Given the description of an element on the screen output the (x, y) to click on. 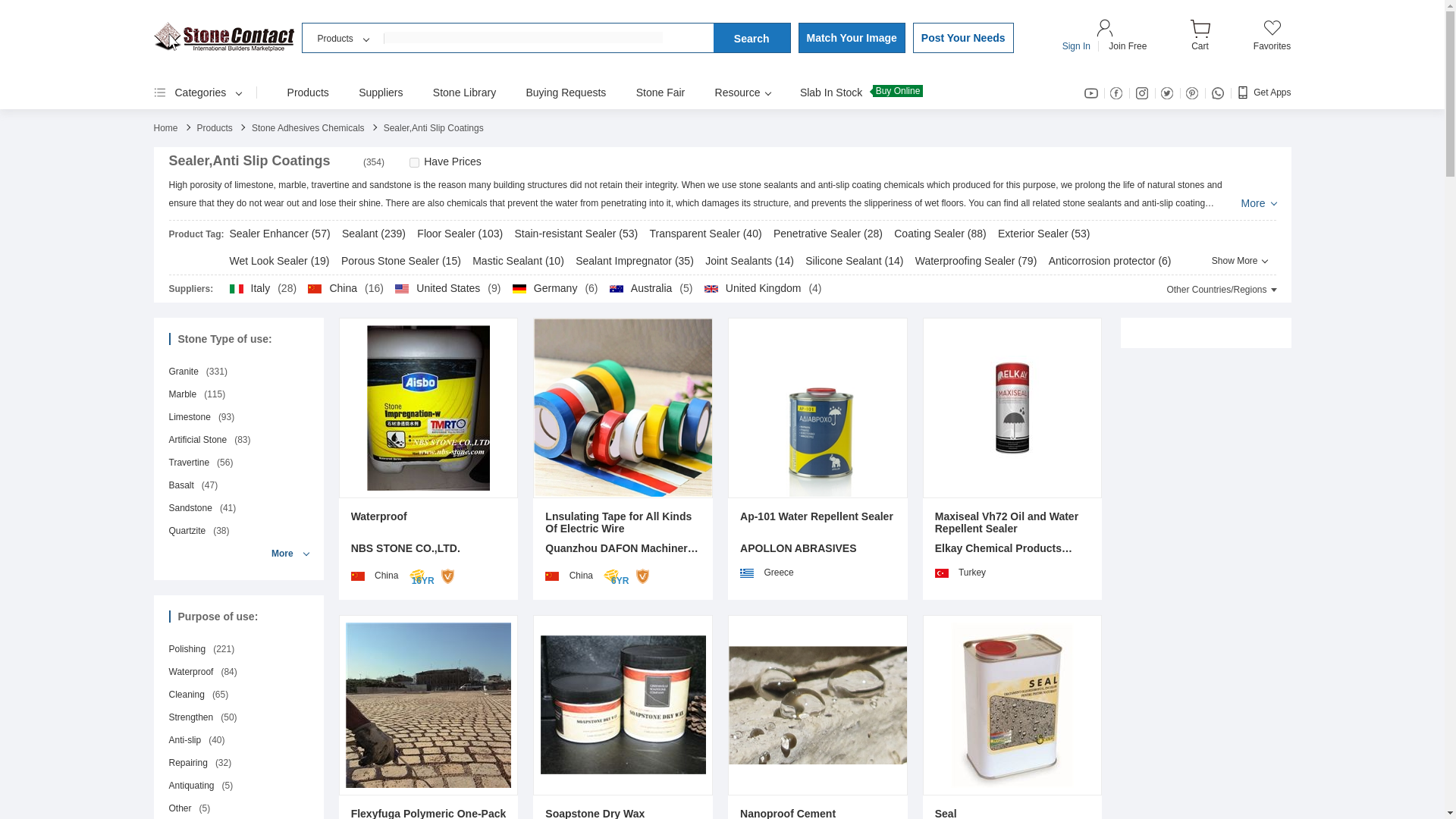
Cart (1199, 40)
Match Your Image (850, 37)
Match Your Image (850, 37)
Search (751, 37)
Search (751, 37)
StoneContact (223, 36)
Join Free (1127, 45)
Stone Fair (660, 92)
Resource (742, 92)
Suppliers (380, 92)
